Given the description of an element on the screen output the (x, y) to click on. 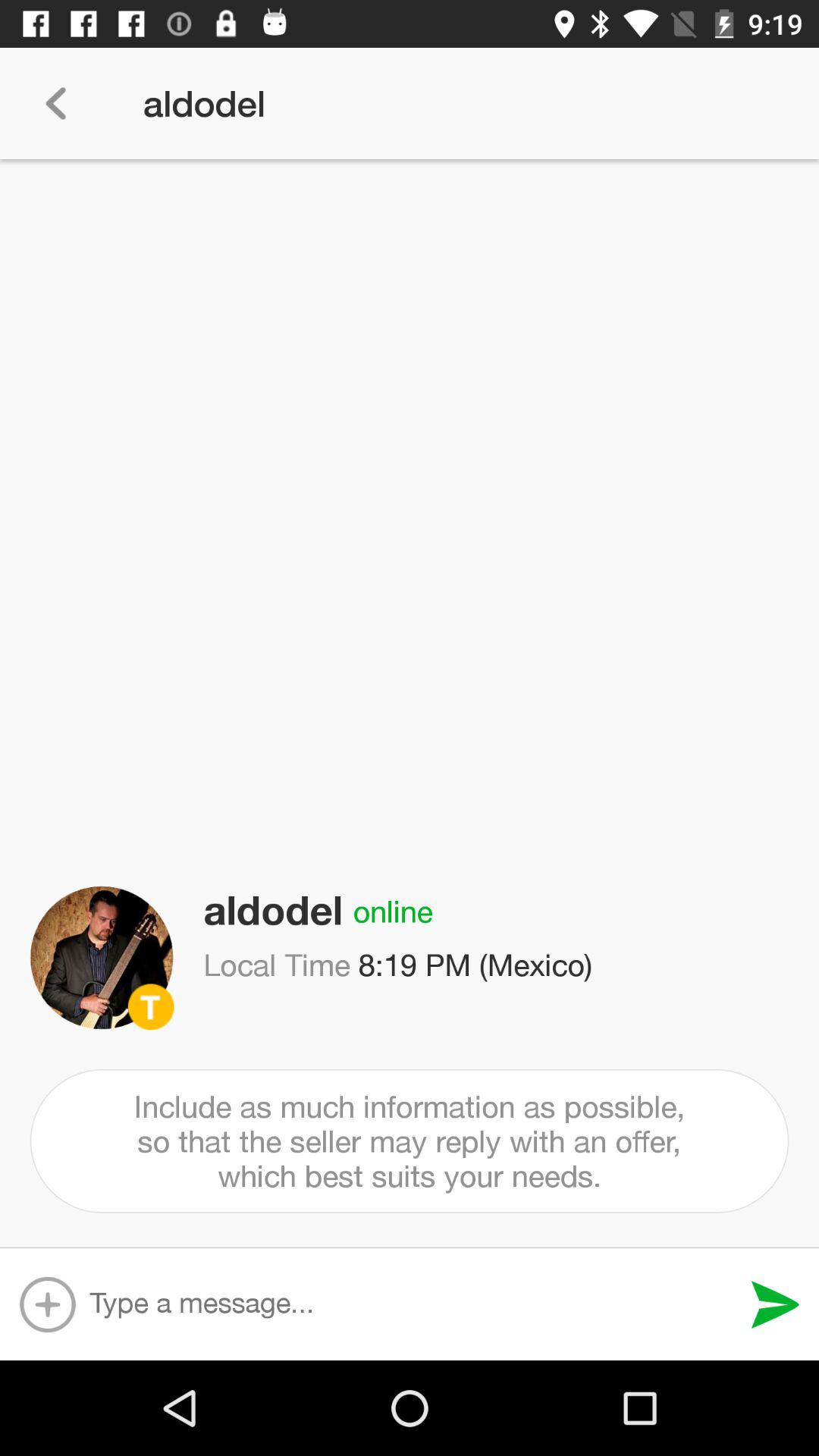
add more options (47, 1304)
